Given the description of an element on the screen output the (x, y) to click on. 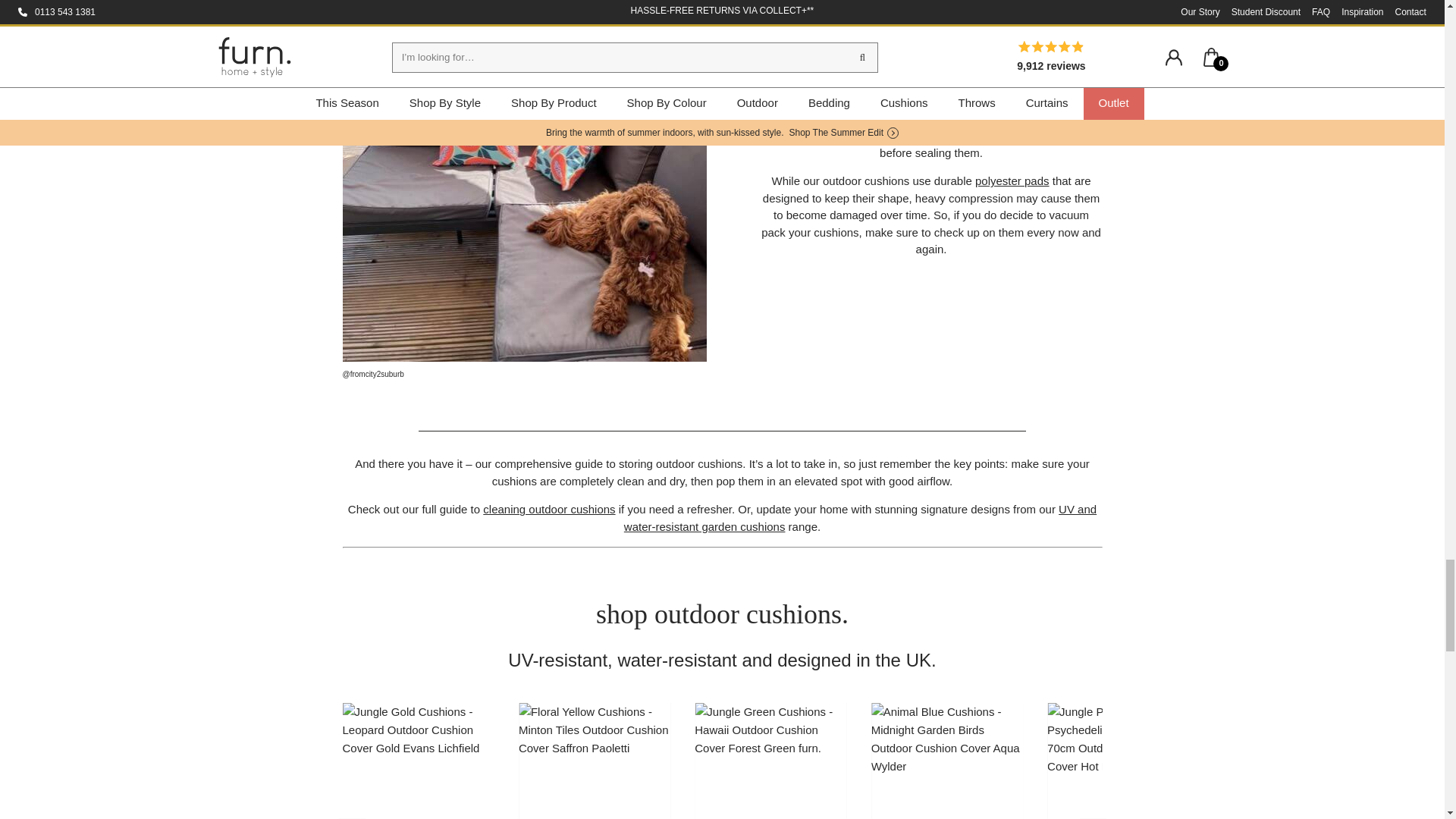
Minton Tiles Outdoor Cushion Saffron (593, 760)
Leopard Outdoor Cushion Gold (418, 760)
Hawaii Outdoor Cushion Forest Green (769, 760)
Midnight Garden Birds Outdoor Cushion Aqua (946, 760)
